Given the description of an element on the screen output the (x, y) to click on. 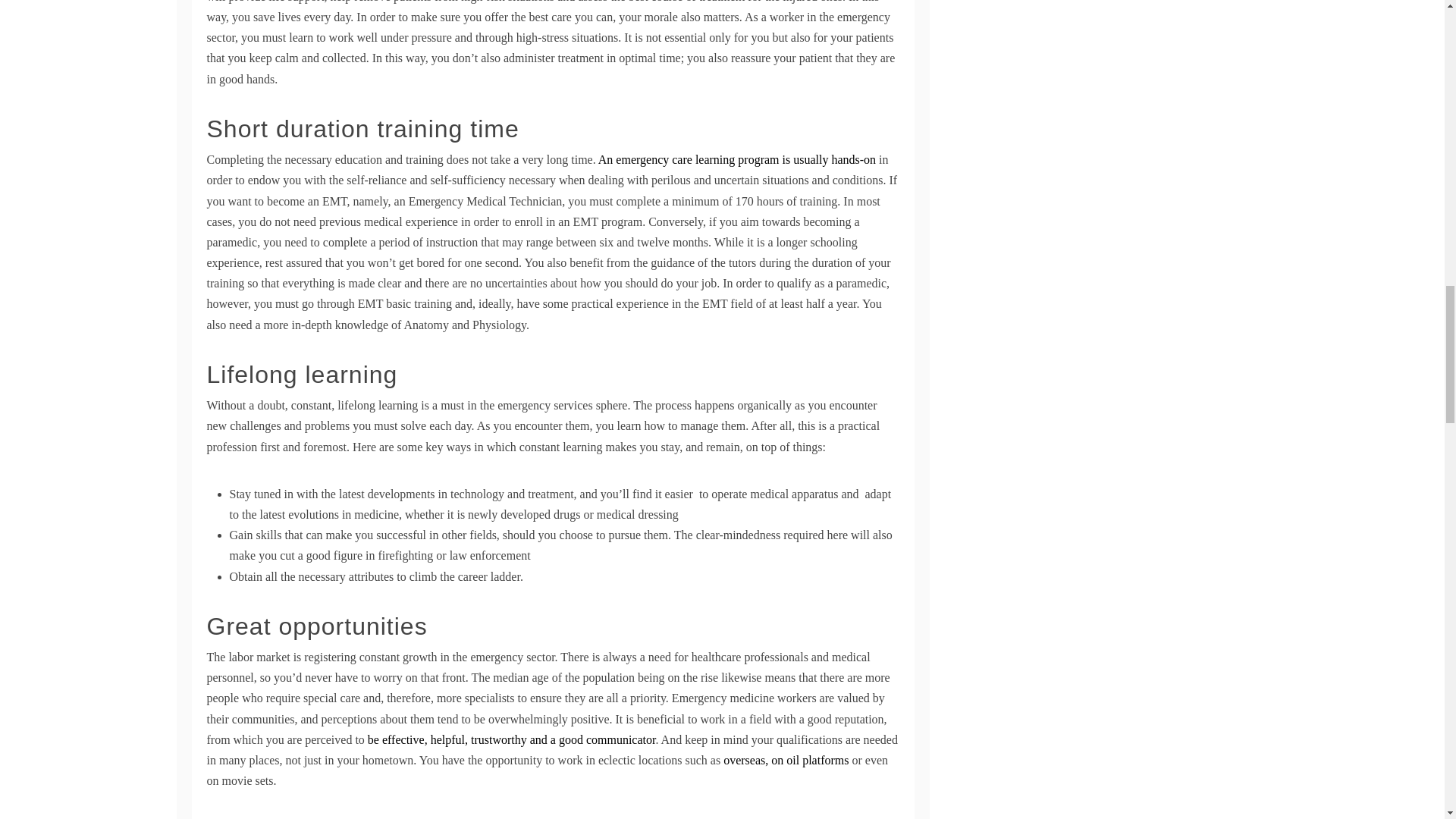
An emergency care learning program is usually hands-on (737, 159)
be effective, helpful, trustworthy and a good communicator (512, 739)
overseas, on oil platforms (785, 759)
